Given the description of an element on the screen output the (x, y) to click on. 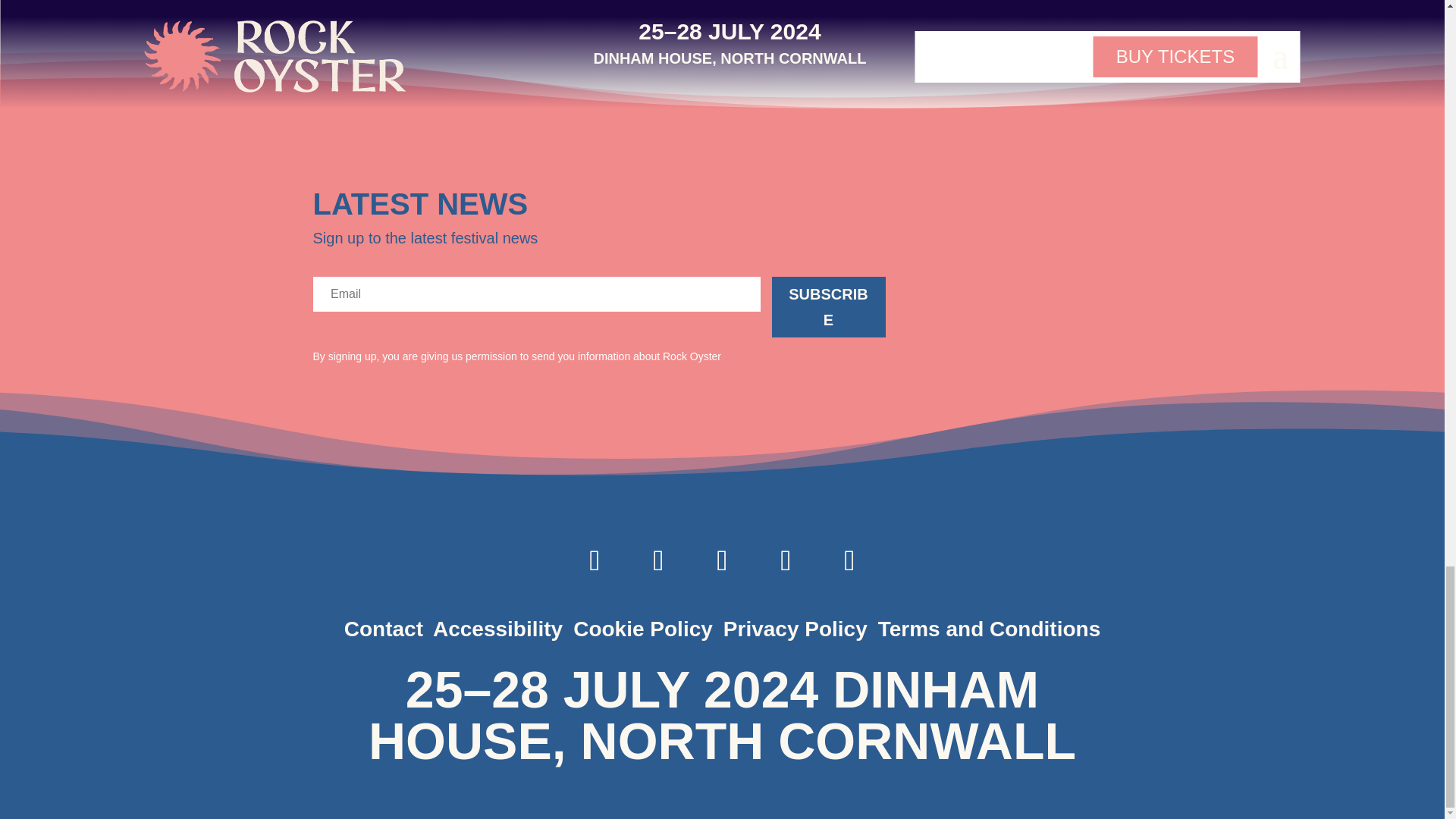
Follow on Spotify (785, 559)
Follow on TikTok (849, 559)
Follow on X (657, 559)
Follow on Facebook (722, 559)
Follow on Instagram (594, 559)
